Given the description of an element on the screen output the (x, y) to click on. 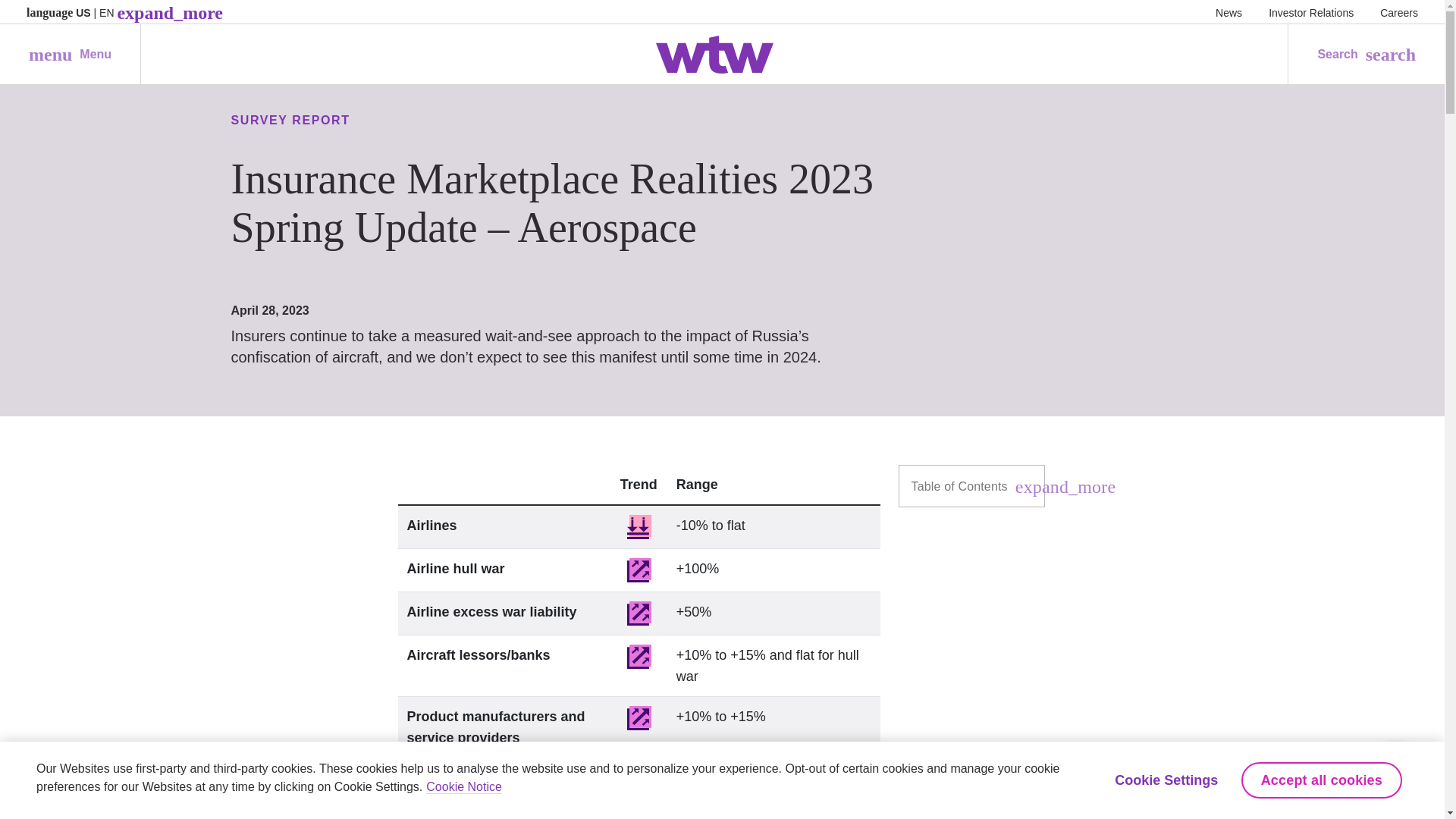
Investor Relations (1311, 12)
Careers (1399, 12)
News (1228, 12)
